Given the description of an element on the screen output the (x, y) to click on. 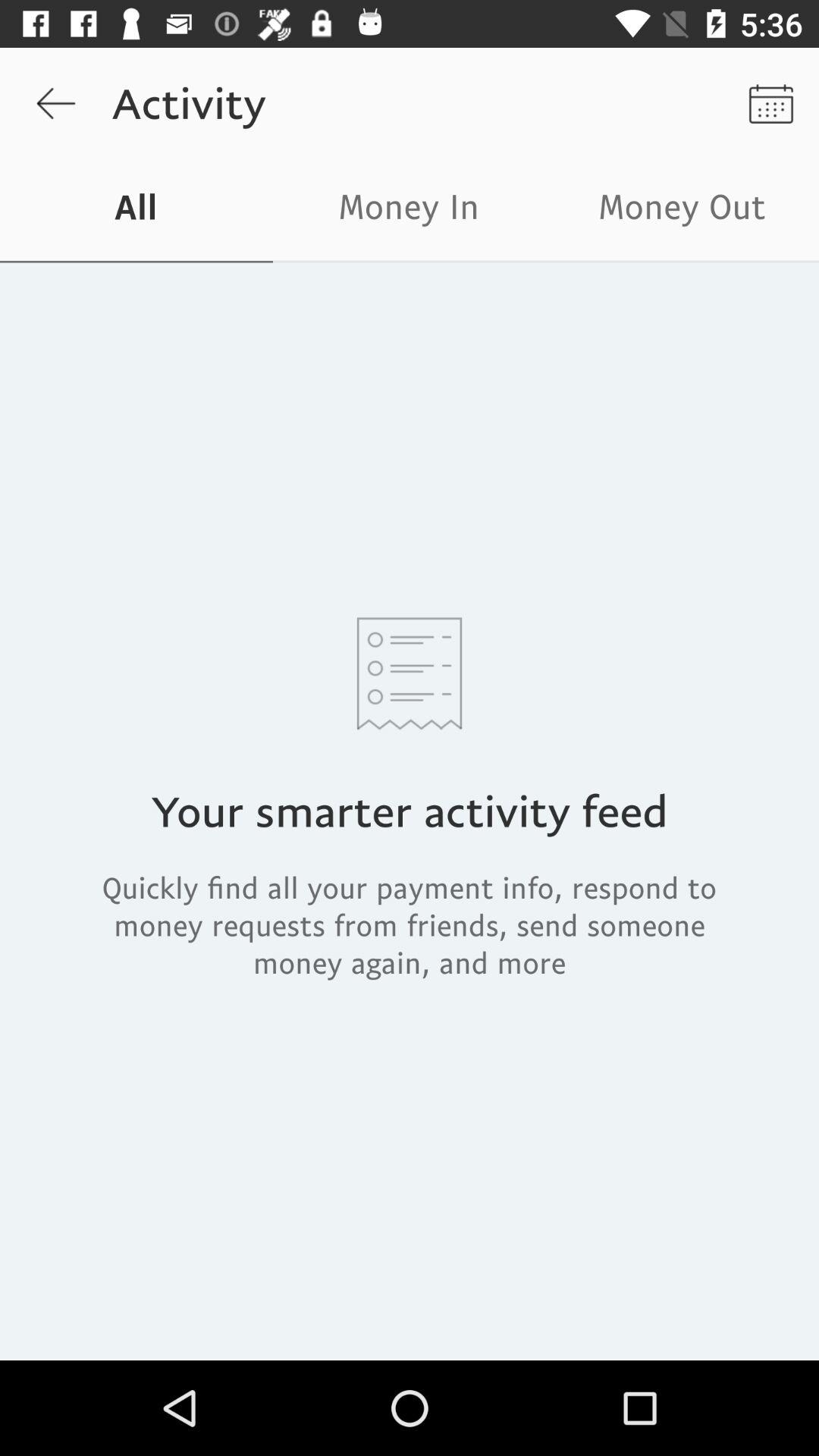
launch icon next to the money out item (409, 210)
